Given the description of an element on the screen output the (x, y) to click on. 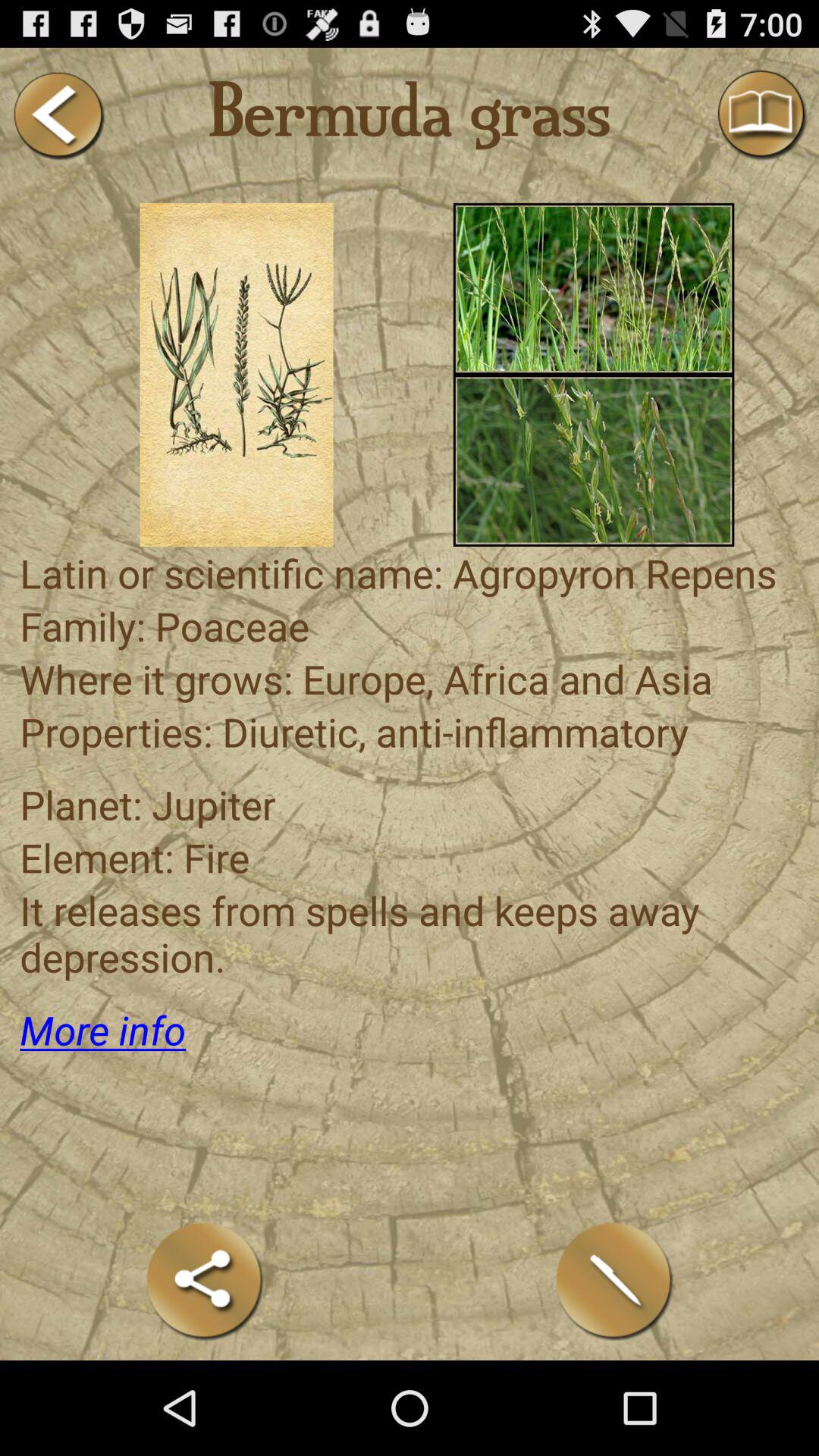
go back (57, 115)
